Given the description of an element on the screen output the (x, y) to click on. 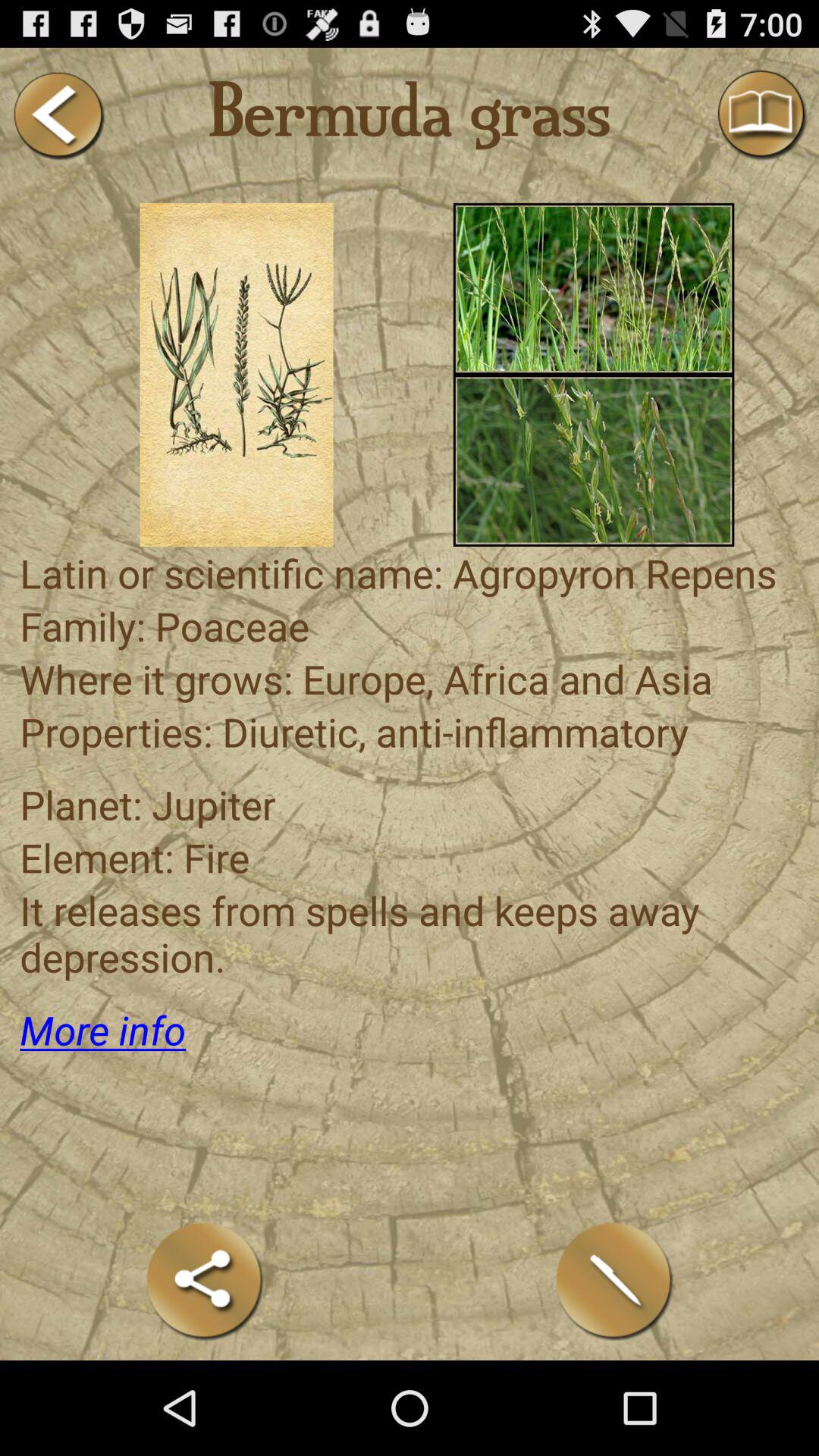
go back (57, 115)
